Given the description of an element on the screen output the (x, y) to click on. 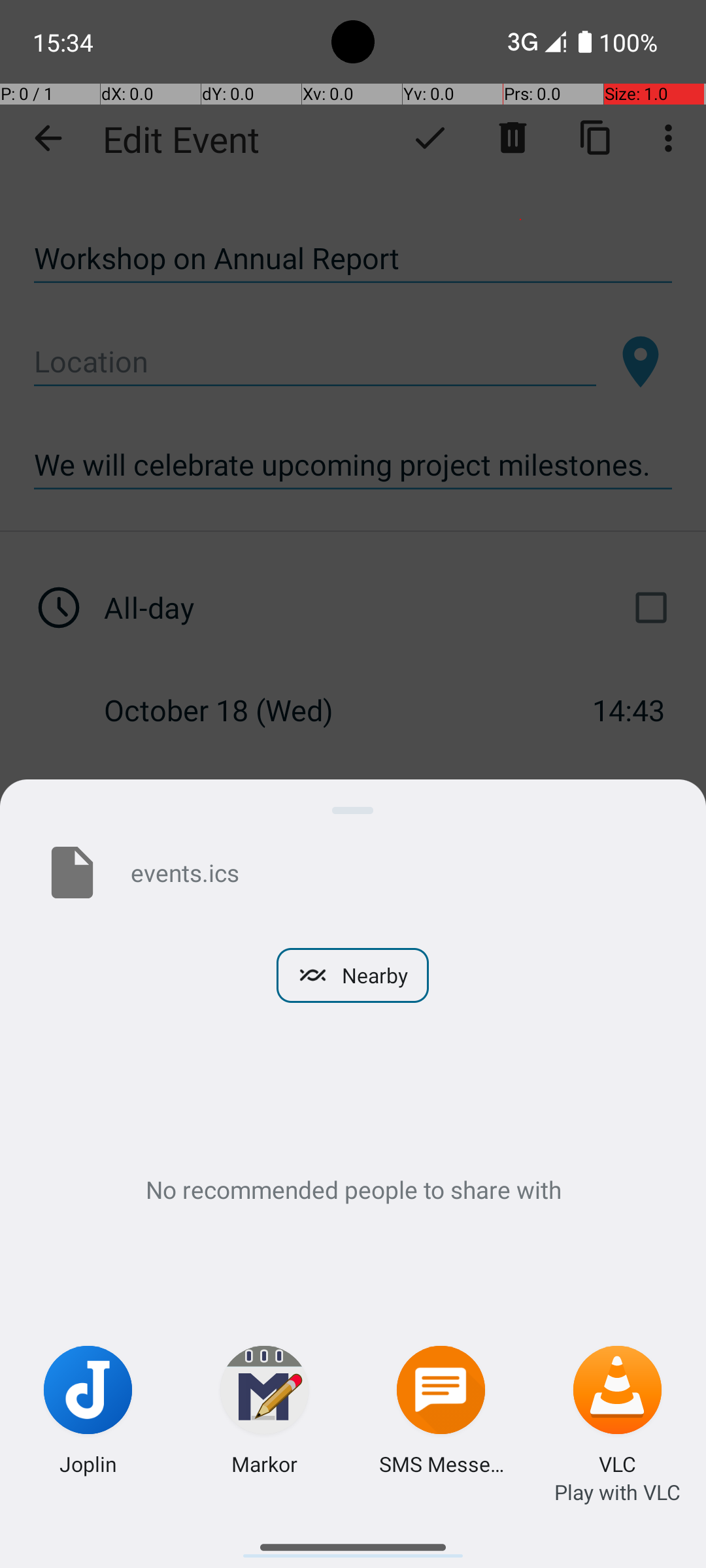
Apps list Element type: android.widget.ImageView (353, 1541)
events.ics Element type: android.widget.TextView (397, 872)
Nearby Element type: android.widget.Button (352, 975)
No recommended people to share with Element type: android.widget.TextView (353, 1189)
Joplin Element type: android.widget.TextView (88, 1463)
SMS Messenger Element type: android.widget.TextView (440, 1463)
Play with VLC Element type: android.widget.TextView (617, 1491)
